Given the description of an element on the screen output the (x, y) to click on. 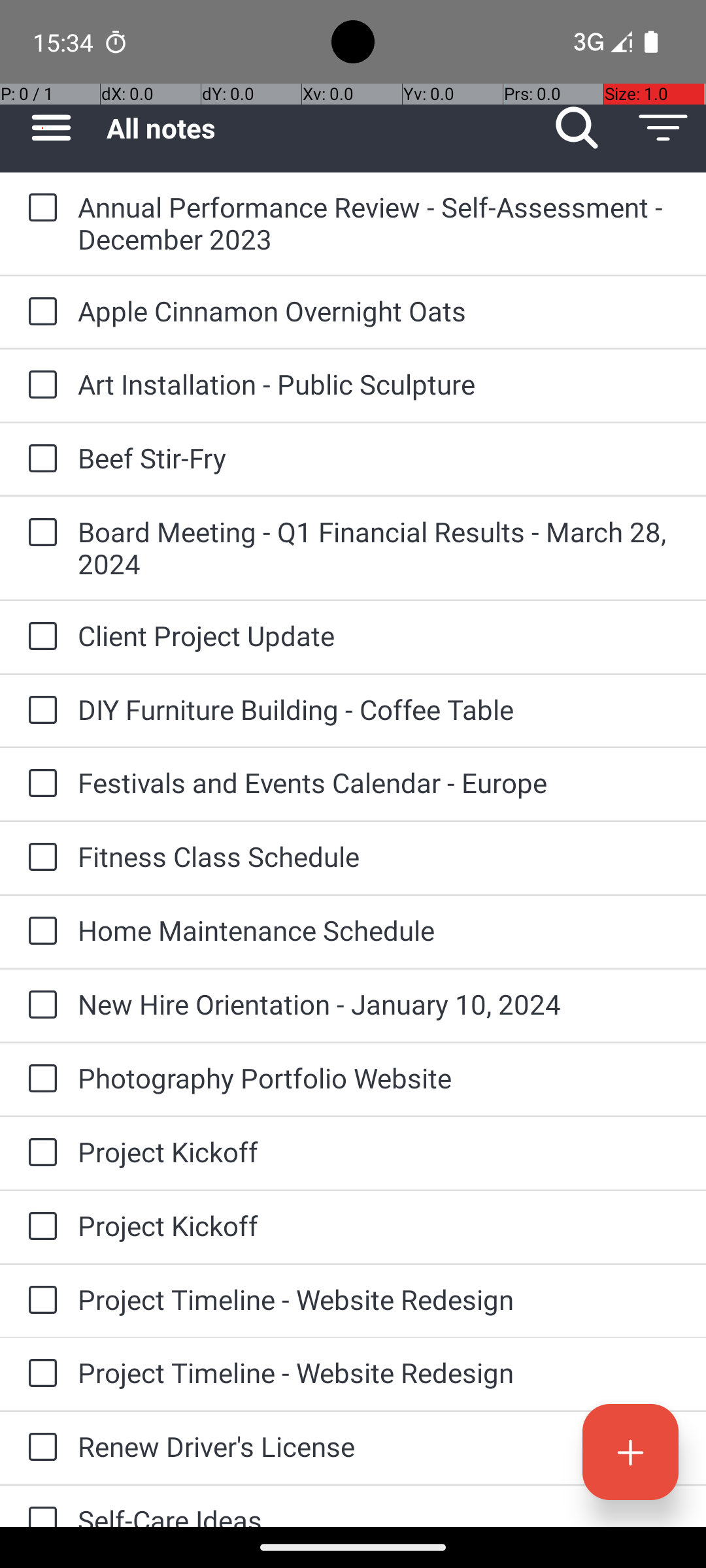
to-do: Apple Cinnamon Overnight Oats Element type: android.widget.CheckBox (38, 312)
Apple Cinnamon Overnight Oats Element type: android.widget.TextView (378, 310)
to-do: Art Installation - Public Sculpture Element type: android.widget.CheckBox (38, 385)
Art Installation - Public Sculpture Element type: android.widget.TextView (378, 383)
to-do: Beef Stir-Fry Element type: android.widget.CheckBox (38, 459)
Beef Stir-Fry Element type: android.widget.TextView (378, 457)
to-do: Board Meeting - Q1 Financial Results - March 28, 2024 Element type: android.widget.CheckBox (38, 533)
to-do: Client Project Update Element type: android.widget.CheckBox (38, 637)
Client Project Update Element type: android.widget.TextView (378, 634)
to-do: DIY Furniture Building - Coffee Table Element type: android.widget.CheckBox (38, 710)
DIY Furniture Building - Coffee Table Element type: android.widget.TextView (378, 708)
to-do: Festivals and Events Calendar - Europe Element type: android.widget.CheckBox (38, 783)
Festivals and Events Calendar - Europe Element type: android.widget.TextView (378, 781)
to-do: Photography Portfolio Website Element type: android.widget.CheckBox (38, 1079)
Photography Portfolio Website Element type: android.widget.TextView (378, 1077)
to-do: Renew Driver's License Element type: android.widget.CheckBox (38, 1447)
to-do: Self-Care Ideas Element type: android.widget.CheckBox (38, 1505)
Self-Care Ideas Element type: android.widget.TextView (378, 1513)
